Given the description of an element on the screen output the (x, y) to click on. 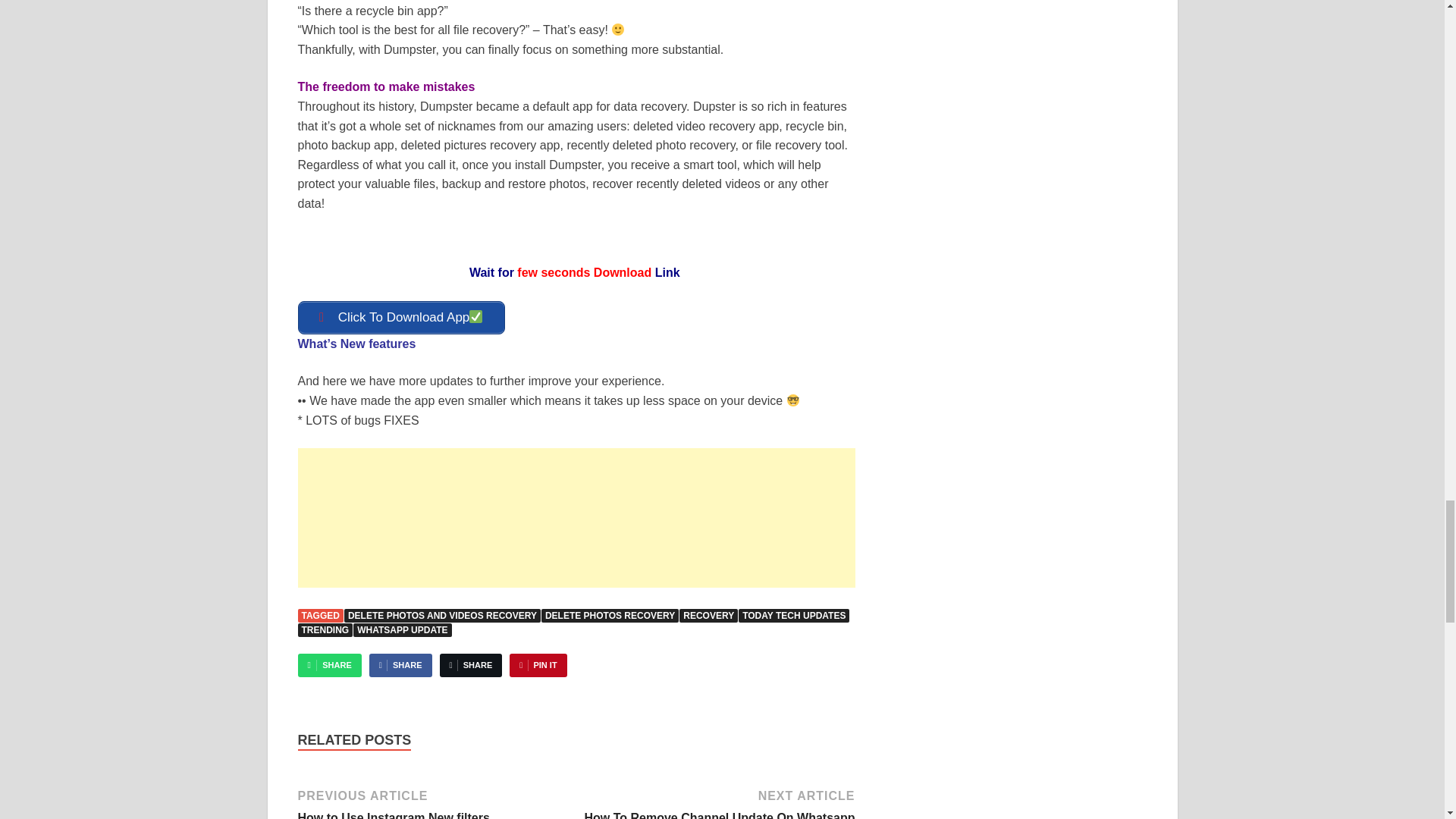
DELETE PHOTOS AND VIDEOS RECOVERY (441, 615)
Click To Download App (400, 317)
DELETE PHOTOS RECOVERY (609, 615)
PIN IT (537, 665)
WHATSAPP UPDATE (402, 630)
SHARE (400, 665)
RECOVERY (708, 615)
SHARE (434, 803)
TRENDING (329, 665)
SHARE (324, 630)
TODAY TECH UPDATES (470, 665)
